Given the description of an element on the screen output the (x, y) to click on. 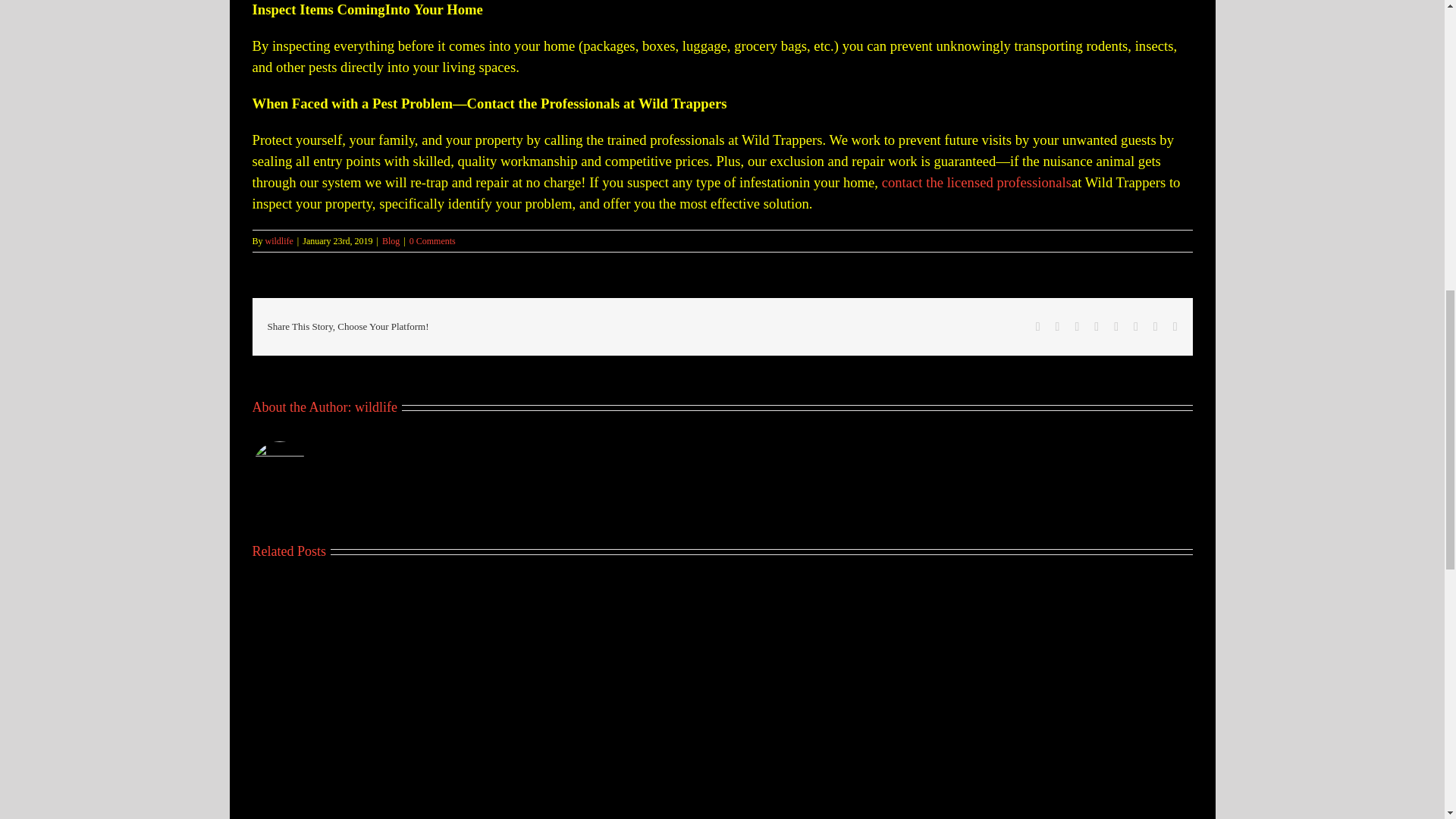
wildlife (376, 406)
Posts by wildlife (279, 240)
0 Comments (432, 240)
contact the licensed professionals (976, 182)
wildlife (279, 240)
Posts by wildlife (376, 406)
Blog (389, 240)
